Given the description of an element on the screen output the (x, y) to click on. 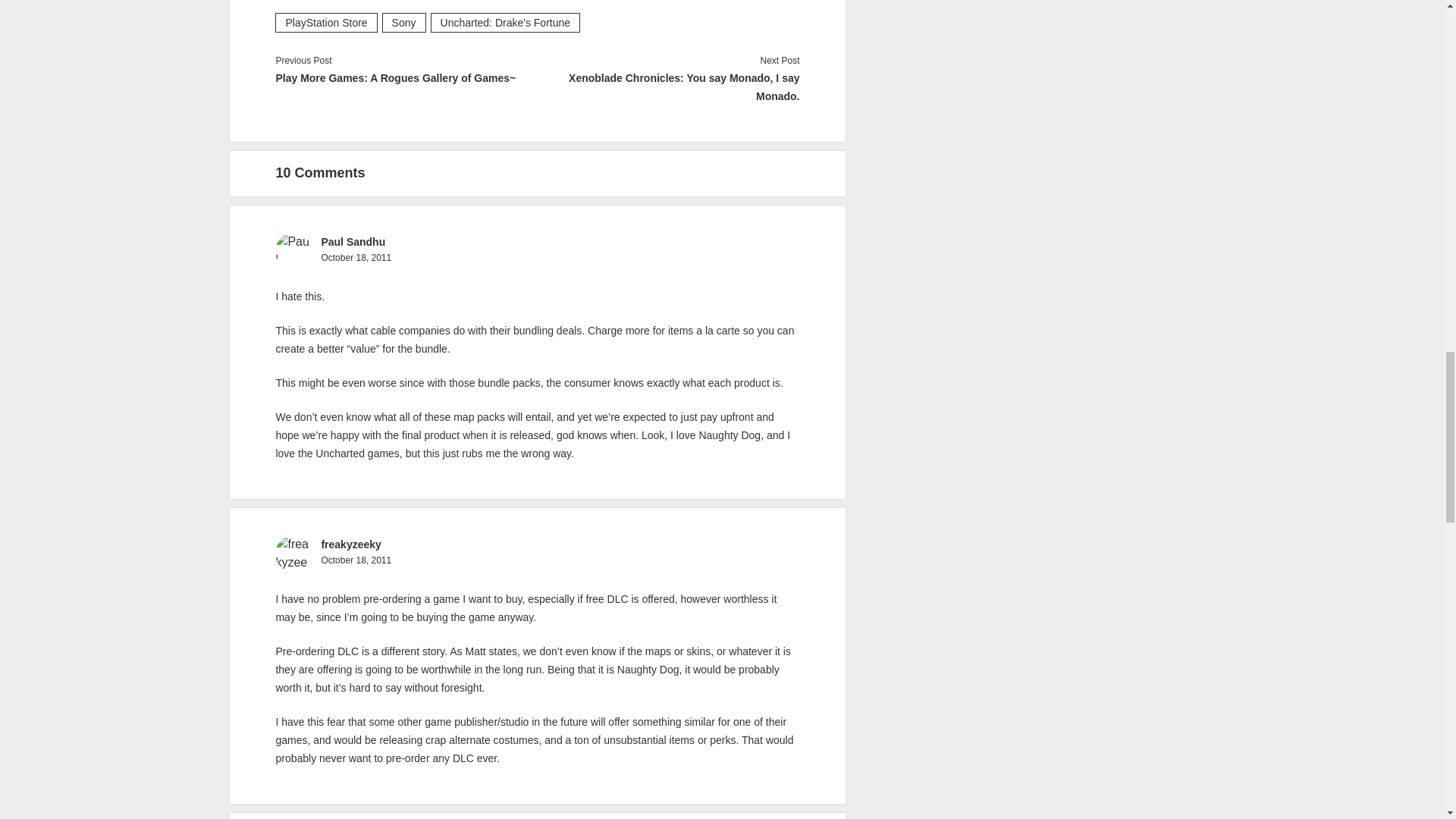
Paul Sandhu (352, 241)
freakyzeeky (350, 544)
PlayStation Store (326, 22)
View all posts tagged Sony (403, 22)
Xenoblade Chronicles: You say Monado, I say Monado. (668, 86)
View all posts tagged PlayStation Store (326, 22)
View all posts tagged Uncharted: Drake's Fortune (505, 22)
Sony (403, 22)
Uncharted: Drake's Fortune (505, 22)
